Given the description of an element on the screen output the (x, y) to click on. 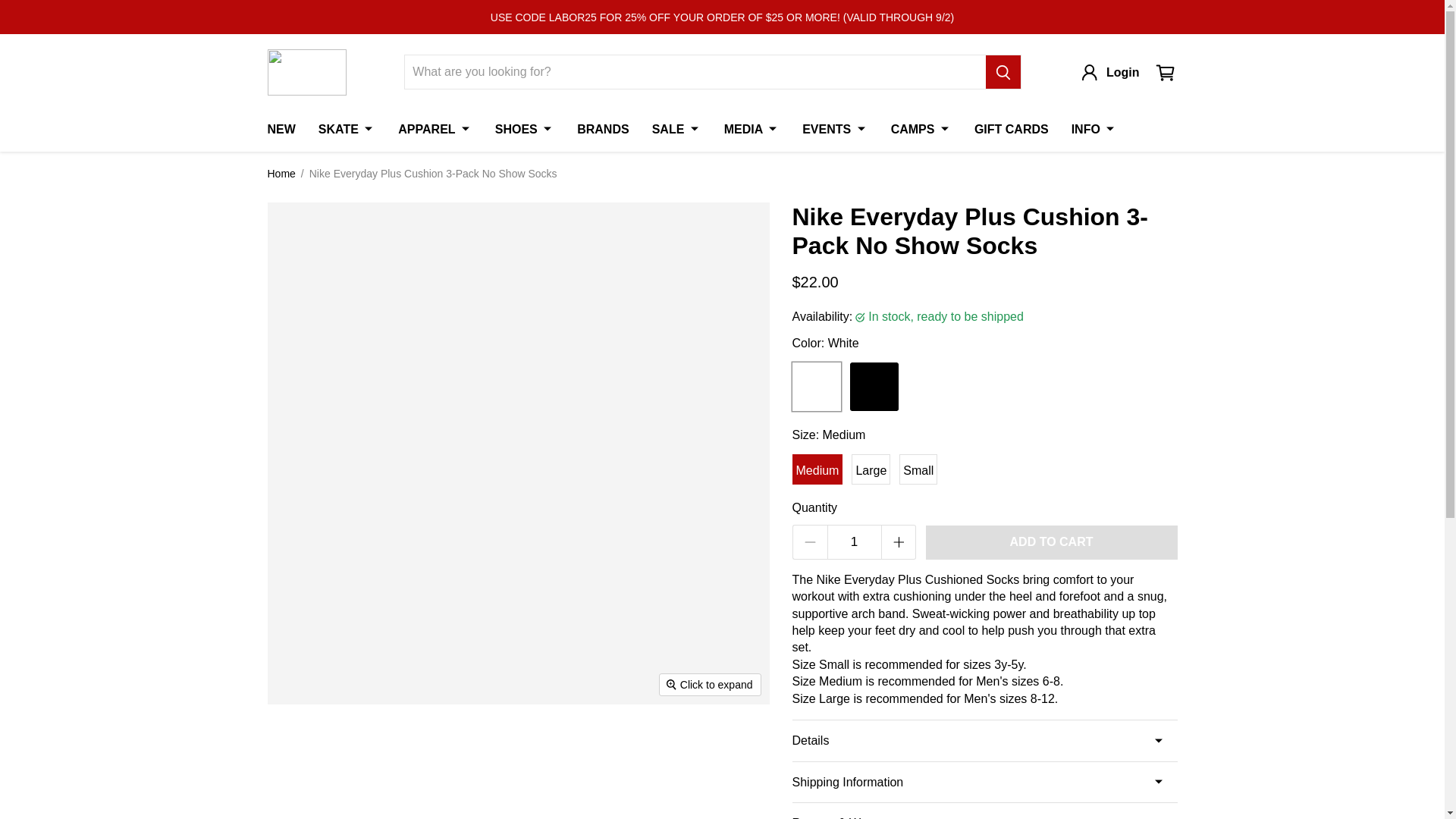
1 (853, 541)
View cart (1164, 72)
Login (1111, 72)
NEW (281, 129)
